Given the description of an element on the screen output the (x, y) to click on. 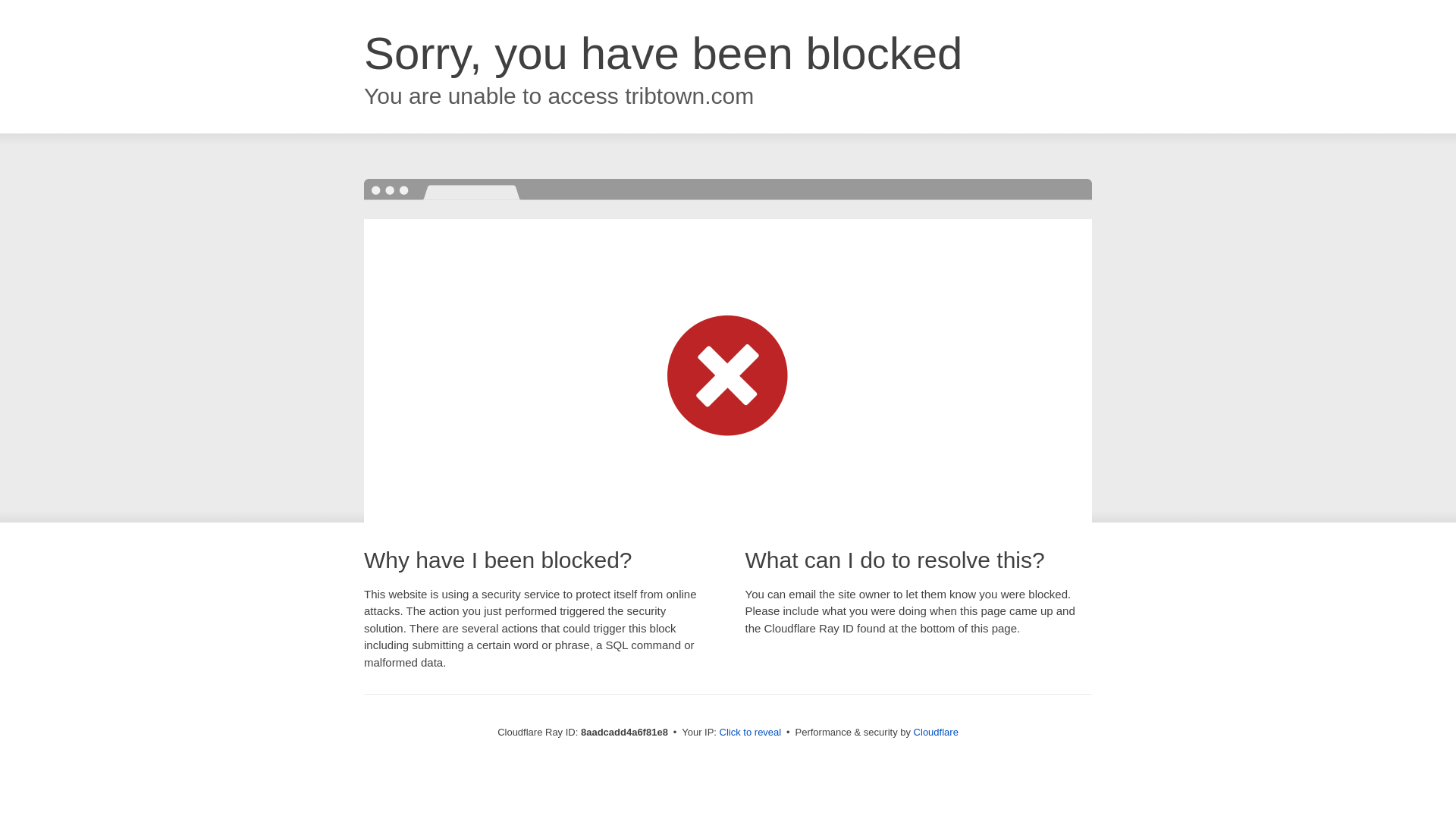
Cloudflare (936, 731)
Click to reveal (750, 732)
